Given the description of an element on the screen output the (x, y) to click on. 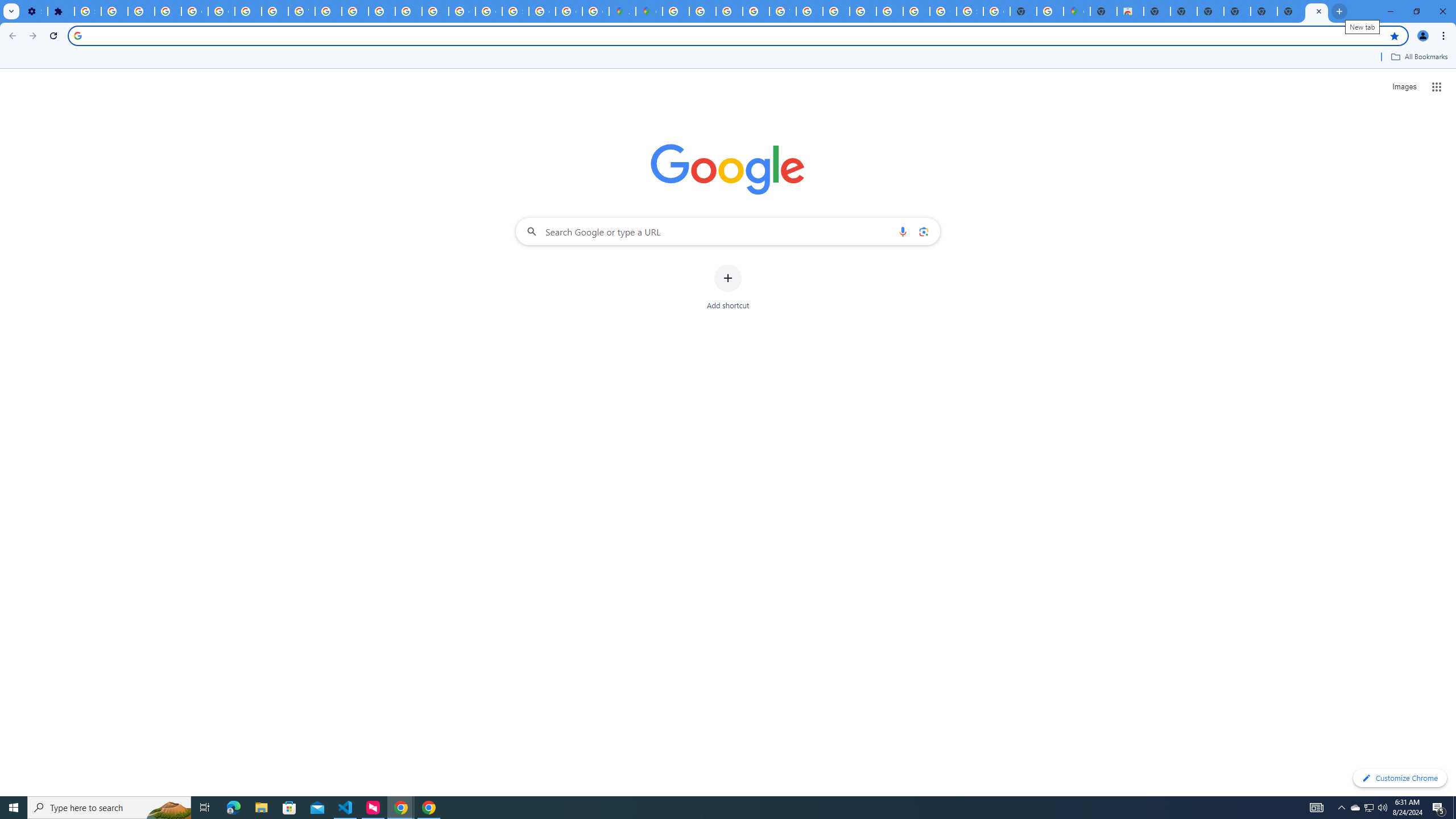
Privacy Help Center - Policies Help (729, 11)
Explore new street-level details - Google Maps Help (1050, 11)
Google apps (1436, 86)
Search icon (77, 35)
Learn how to find your photos - Google Photos Help (141, 11)
Search by voice (902, 230)
https://scholar.google.com/ (328, 11)
Browse Chrome as a guest - Computer - Google Chrome Help (862, 11)
Customize Chrome (1399, 778)
